Given the description of an element on the screen output the (x, y) to click on. 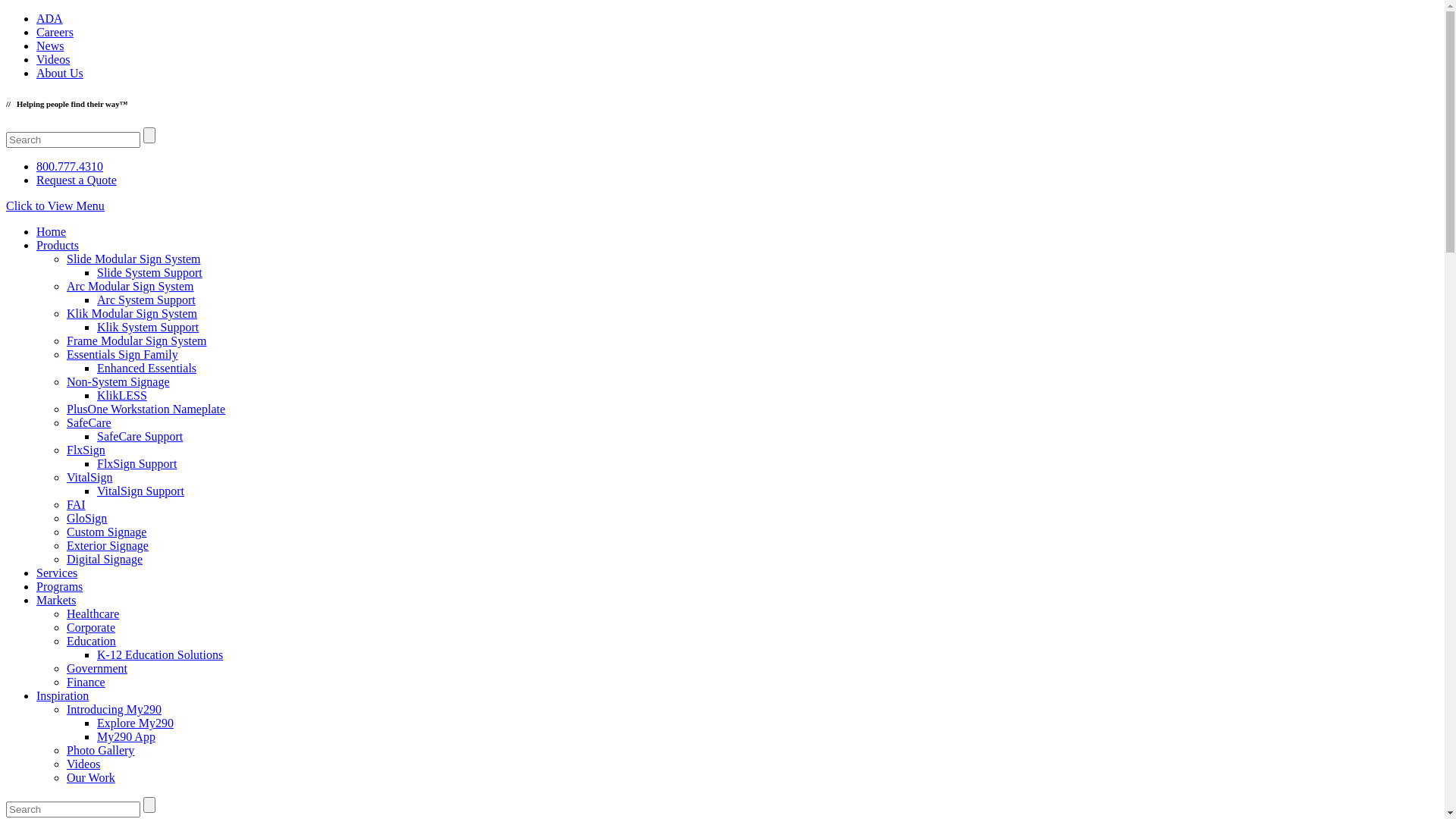
FlxSign Element type: text (85, 449)
Slide Modular Sign System Element type: text (133, 258)
Digital Signage Element type: text (104, 558)
Government Element type: text (96, 668)
Non-System Signage Element type: text (117, 381)
Videos Element type: text (83, 763)
Arc System Support Element type: text (146, 299)
Introducing My290 Element type: text (113, 708)
KlikLESS Element type: text (122, 395)
800.777.4310 Element type: text (69, 166)
Products Element type: text (57, 244)
SafeCare Support Element type: text (139, 435)
VitalSign Support Element type: text (140, 490)
Videos Element type: text (52, 59)
Our Work Element type: text (90, 777)
Finance Element type: text (85, 681)
Klik System Support Element type: text (147, 326)
FAI Element type: text (75, 504)
K-12 Education Solutions Element type: text (159, 654)
Request a Quote Element type: text (76, 179)
Services Element type: text (56, 572)
Corporate Element type: text (90, 627)
Exterior Signage Element type: text (107, 545)
Explore My290 Element type: text (135, 722)
FlxSign Support Element type: text (136, 463)
Photo Gallery Element type: text (100, 749)
Healthcare Element type: text (92, 613)
GloSign Element type: text (86, 517)
VitalSign Element type: text (89, 476)
PlusOne Workstation Nameplate Element type: text (145, 408)
Careers Element type: text (54, 31)
SafeCare Element type: text (88, 422)
Slide System Support Element type: text (149, 272)
About Us Element type: text (59, 72)
Programs Element type: text (59, 586)
Arc Modular Sign System Element type: text (130, 285)
Markets Element type: text (55, 599)
Click to View Menu Element type: text (55, 205)
Klik Modular Sign System Element type: text (131, 313)
News Element type: text (49, 45)
Enhanced Essentials Element type: text (146, 367)
Frame Modular Sign System Element type: text (136, 340)
Essentials Sign Family Element type: text (122, 354)
My290 App Element type: text (126, 736)
Inspiration Element type: text (62, 695)
ADA Element type: text (49, 18)
Home Element type: text (50, 231)
Custom Signage Element type: text (106, 531)
Education Element type: text (91, 640)
